Given the description of an element on the screen output the (x, y) to click on. 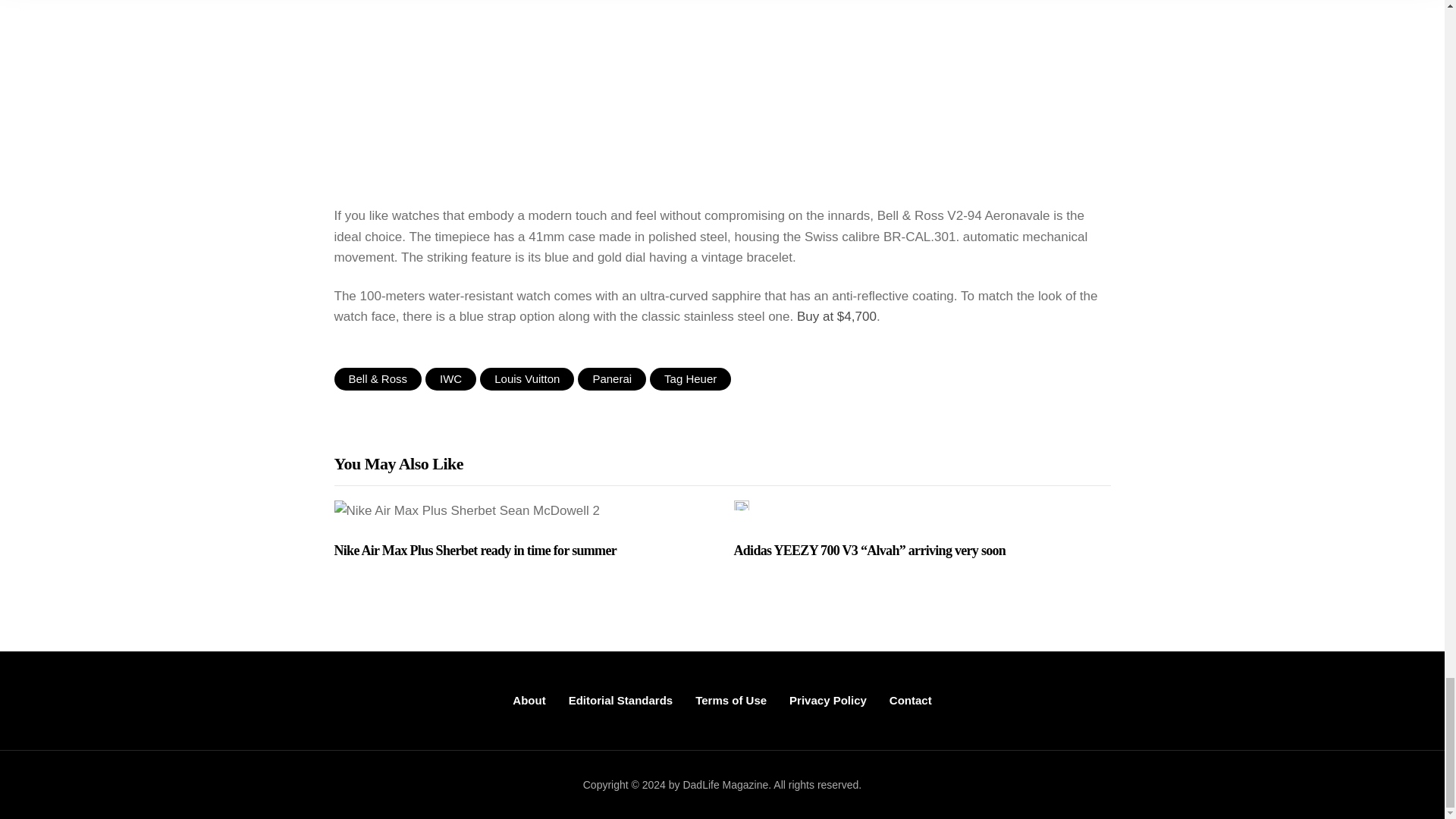
Nike Air Max Plus Sherbet ready in time for summer (521, 551)
About (528, 700)
Tag Heuer (689, 378)
Panerai (612, 378)
IWC (450, 378)
Louis Vuitton (526, 378)
